Given the description of an element on the screen output the (x, y) to click on. 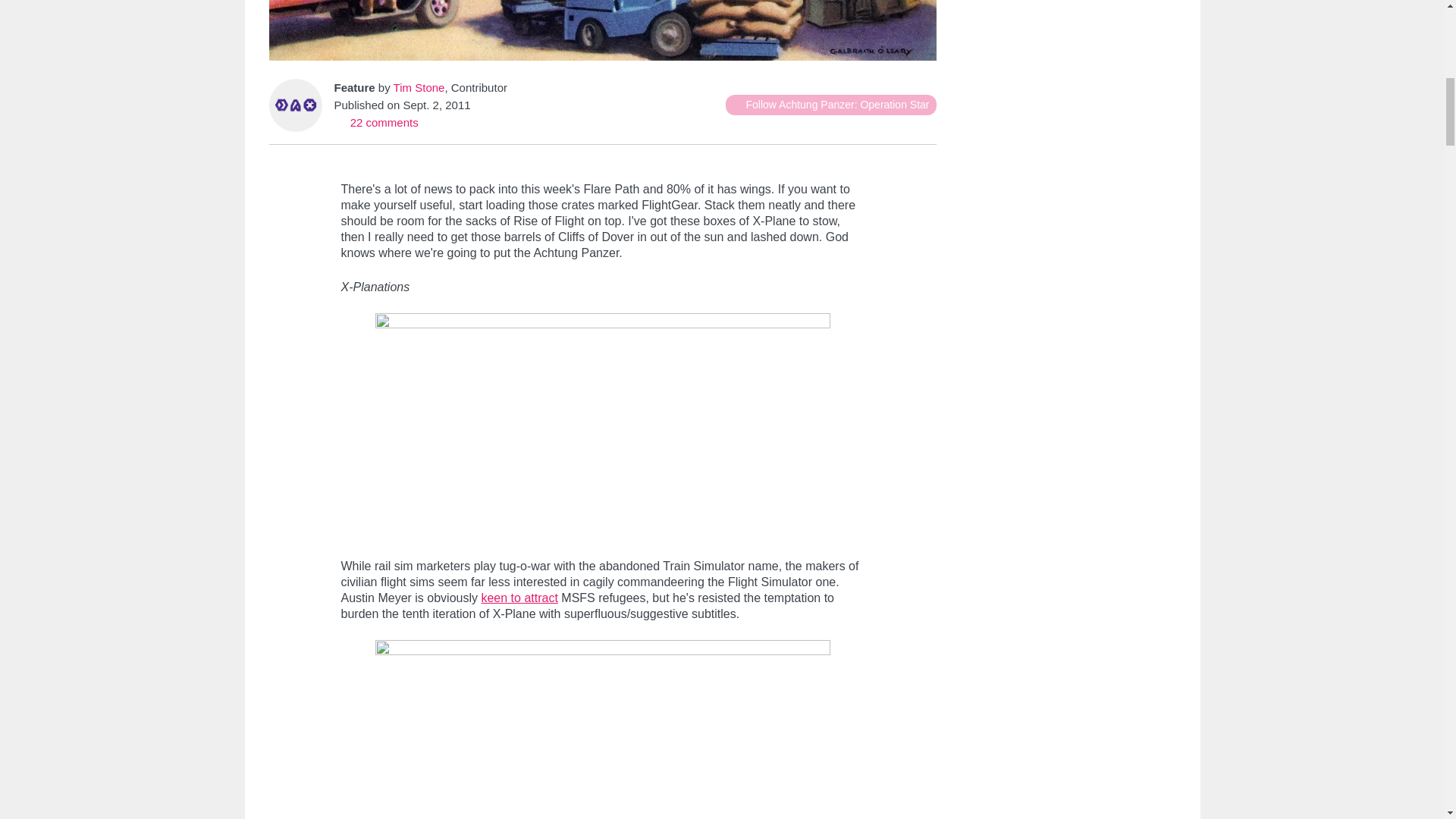
keen to attract (518, 597)
Follow Achtung Panzer: Operation Star (830, 105)
22 comments (375, 122)
Tim Stone (419, 87)
